Given the description of an element on the screen output the (x, y) to click on. 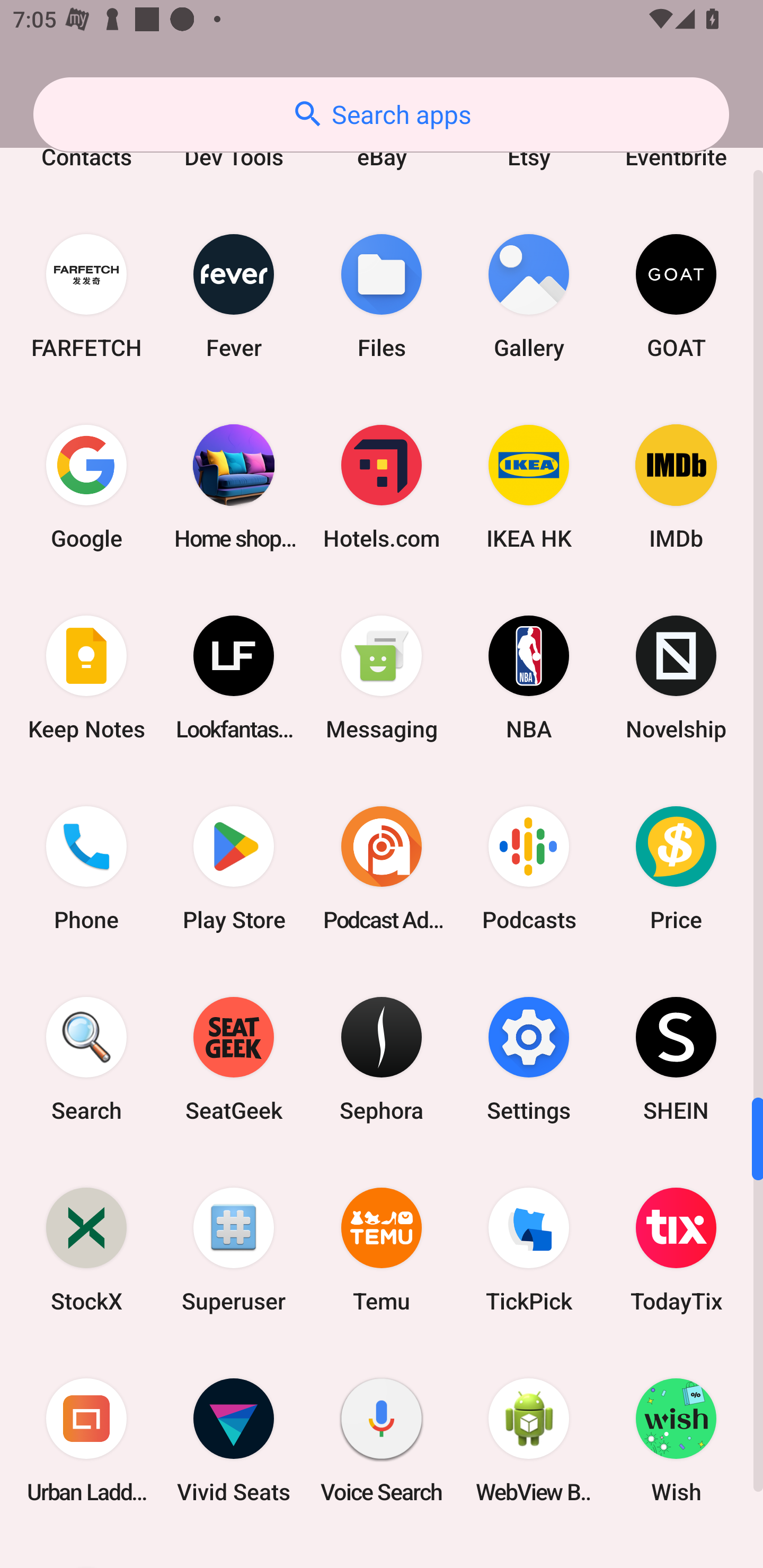
  Search apps (381, 114)
FARFETCH (86, 296)
Fever (233, 296)
Files (381, 296)
Gallery (528, 296)
GOAT (676, 296)
Google (86, 486)
Home shopping (233, 486)
Hotels.com (381, 486)
IKEA HK (528, 486)
IMDb (676, 486)
Keep Notes (86, 677)
Lookfantastic (233, 677)
Messaging (381, 677)
NBA (528, 677)
Novelship (676, 677)
Phone (86, 868)
Play Store (233, 868)
Podcast Addict (381, 868)
Podcasts (528, 868)
Price (676, 868)
Search (86, 1059)
SeatGeek (233, 1059)
Sephora (381, 1059)
Settings (528, 1059)
SHEIN (676, 1059)
StockX (86, 1249)
Superuser (233, 1249)
Temu (381, 1249)
TickPick (528, 1249)
TodayTix (676, 1249)
Urban Ladder (86, 1440)
Vivid Seats (233, 1440)
Voice Search (381, 1440)
WebView Browser Tester (528, 1440)
Wish (676, 1440)
